Given the description of an element on the screen output the (x, y) to click on. 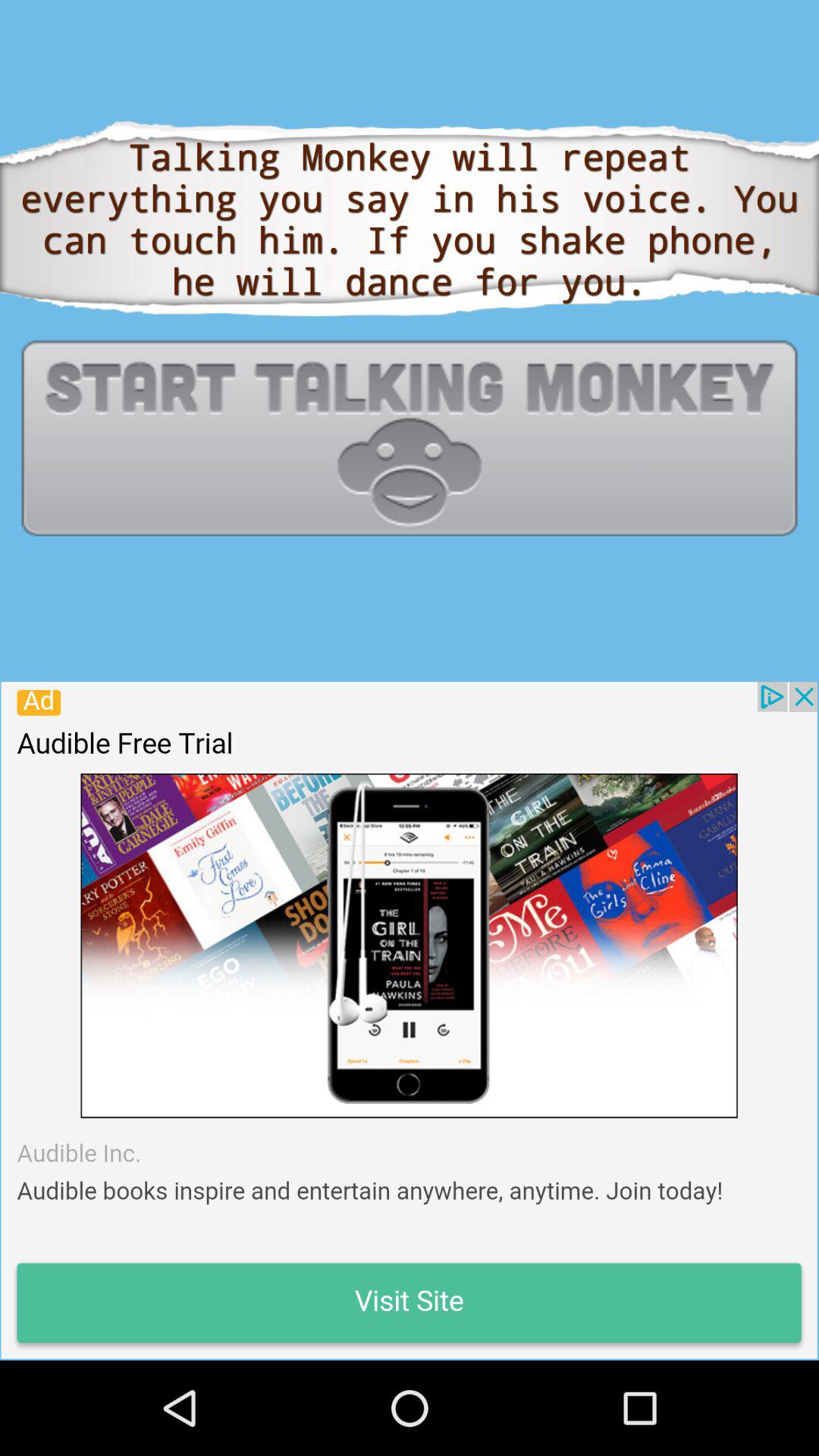
advertisement page (409, 1019)
